Given the description of an element on the screen output the (x, y) to click on. 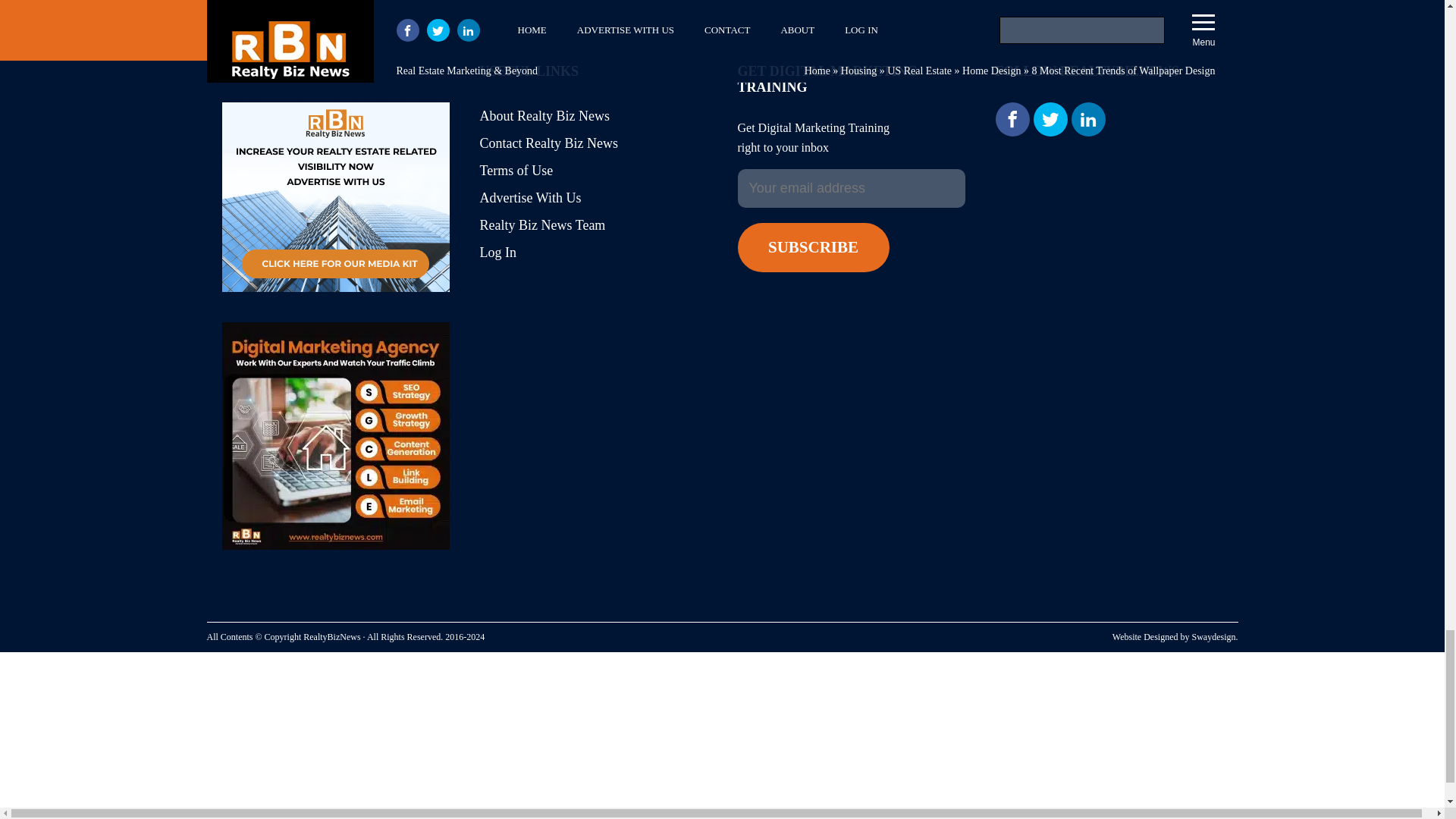
Subscribe (812, 246)
